Given the description of an element on the screen output the (x, y) to click on. 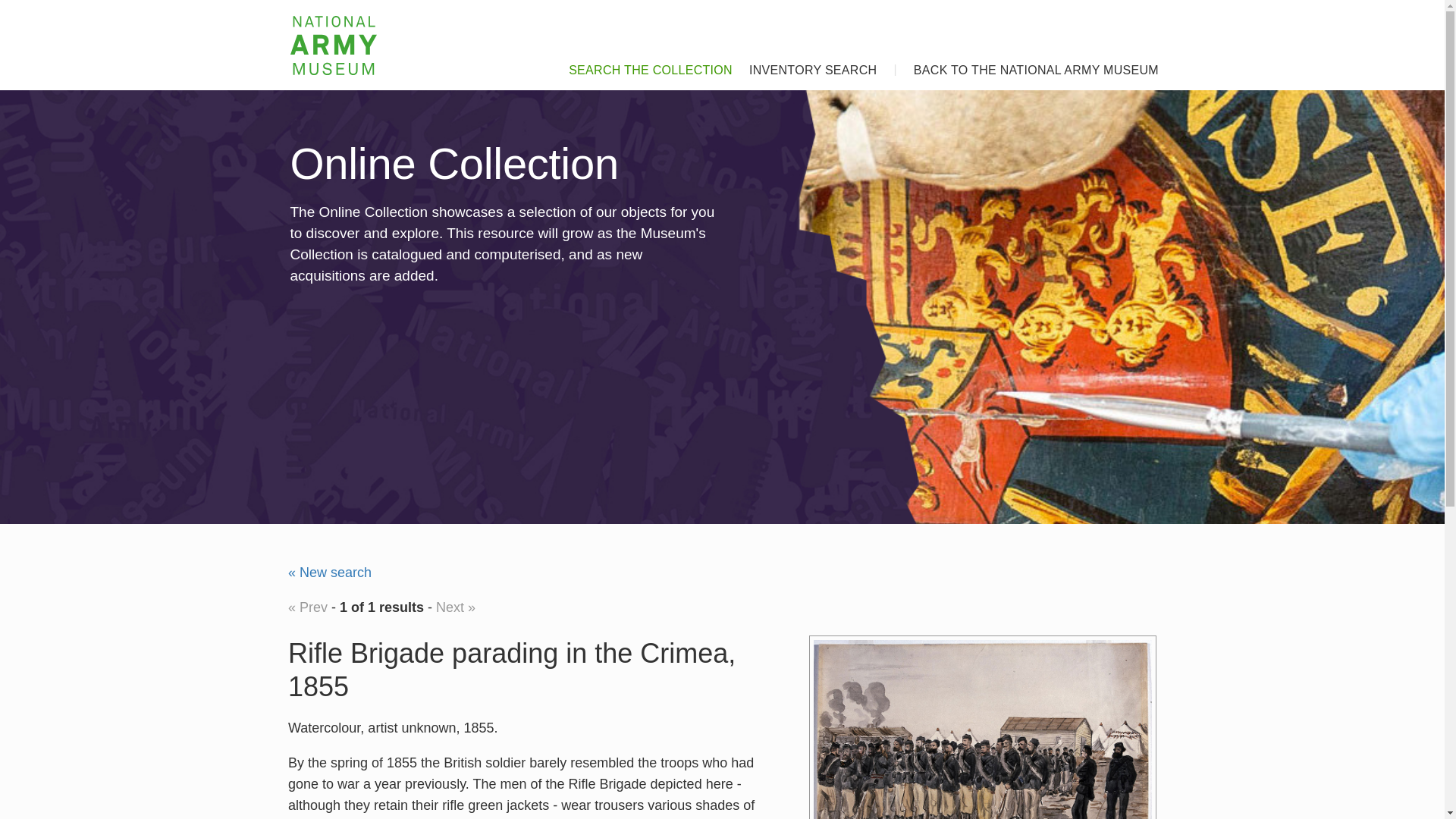
SEARCH THE COLLECTION (641, 65)
BACK TO THE NATIONAL ARMY MUSEUM (1027, 65)
National Army Museum (333, 45)
INVENTORY SEARCH (804, 65)
